Given the description of an element on the screen output the (x, y) to click on. 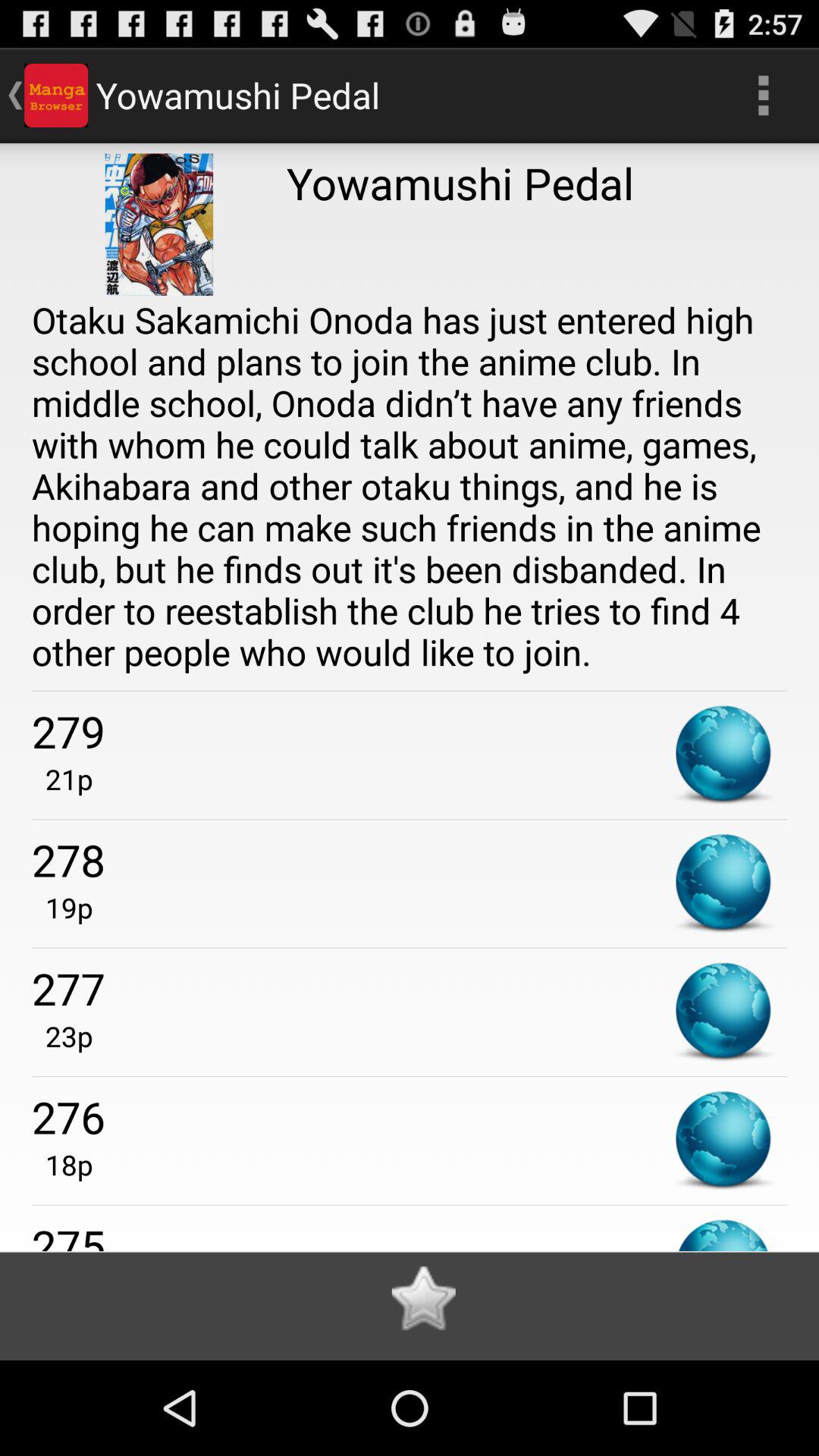
launch item above 276 item (61, 1036)
